Given the description of an element on the screen output the (x, y) to click on. 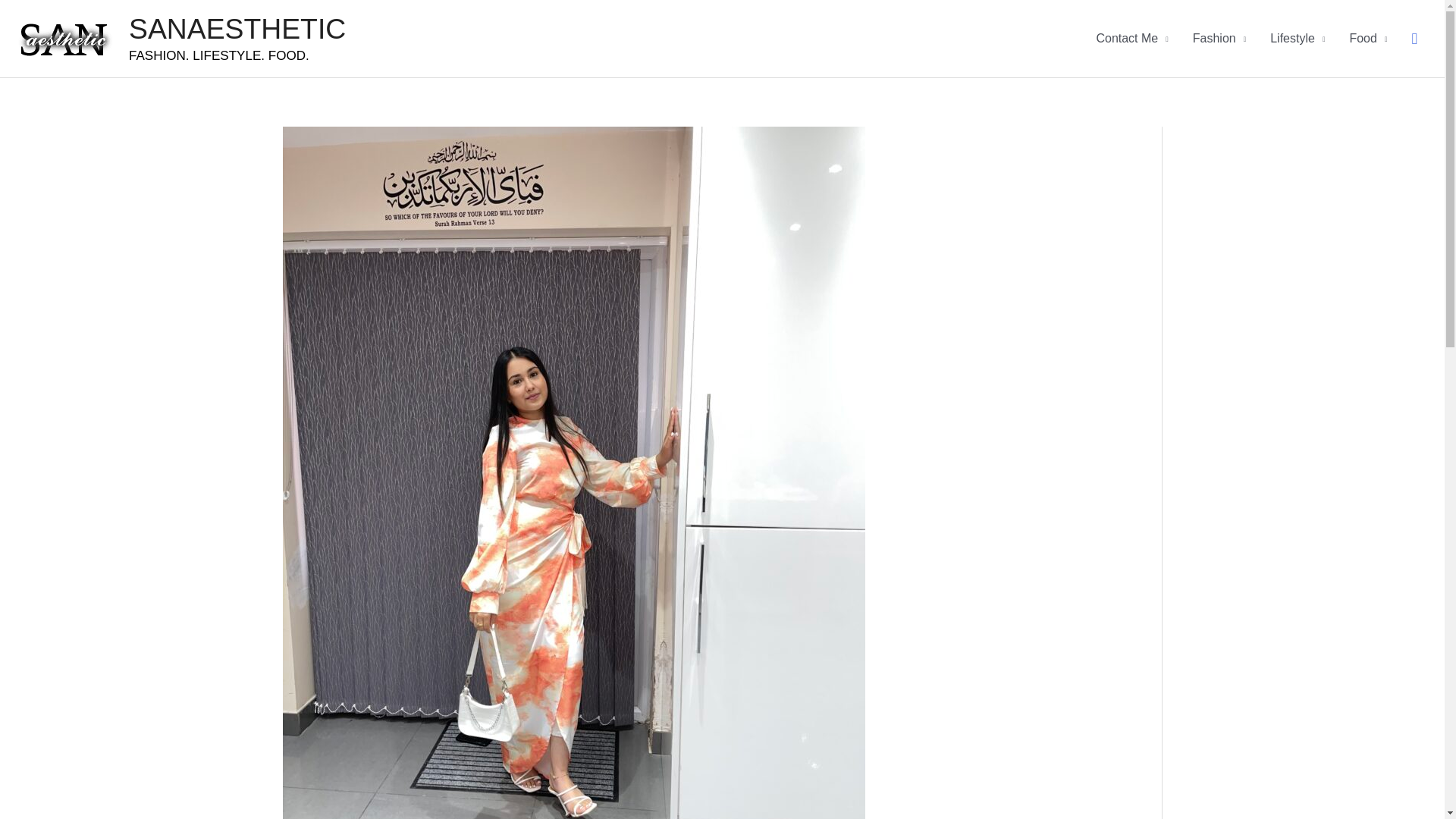
SANAESTHETIC (237, 29)
Lifestyle (1296, 38)
Fashion (1218, 38)
Contact Me (1131, 38)
